Given the description of an element on the screen output the (x, y) to click on. 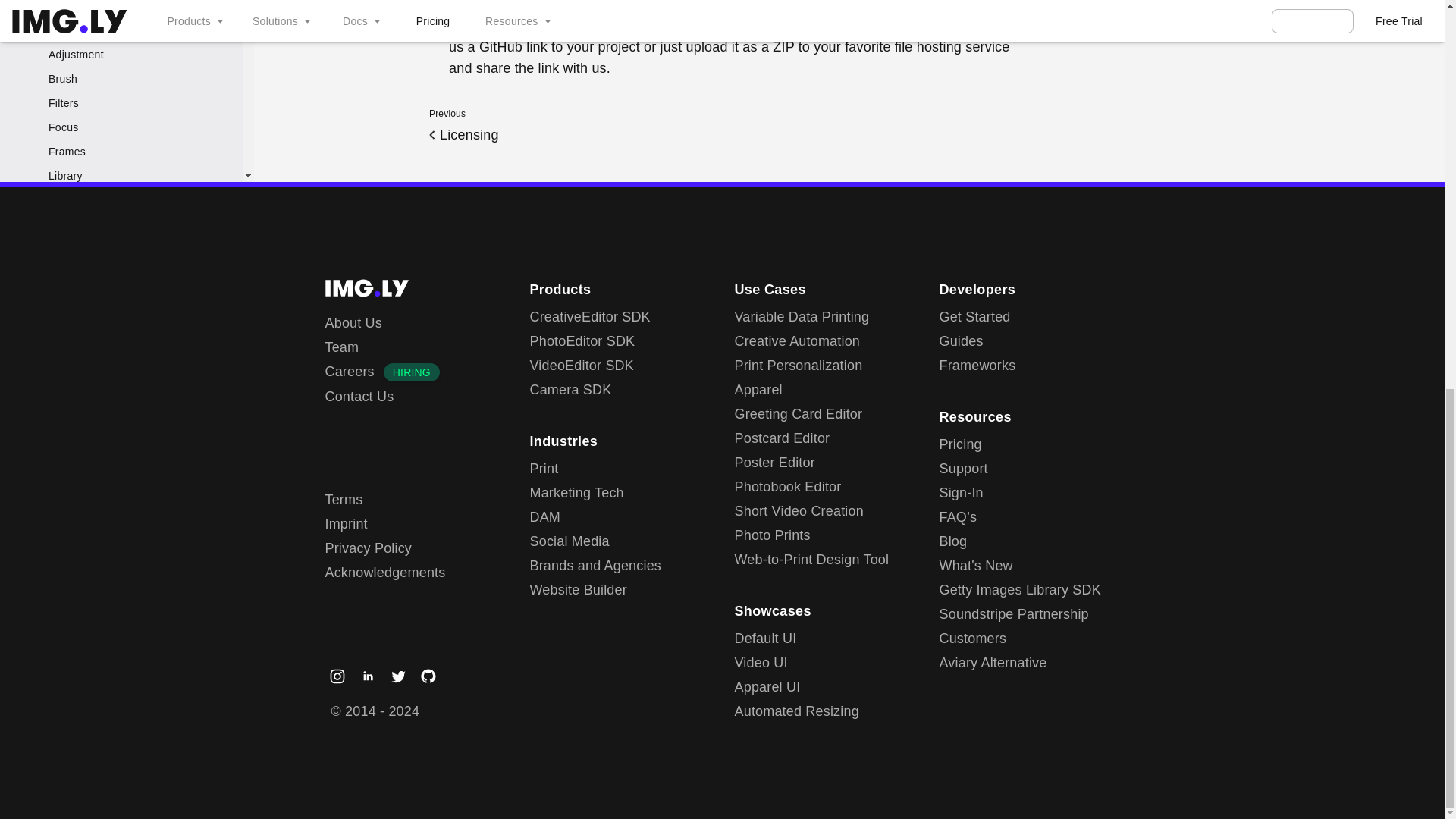
Focus (126, 30)
Filters (126, 9)
